Given the description of an element on the screen output the (x, y) to click on. 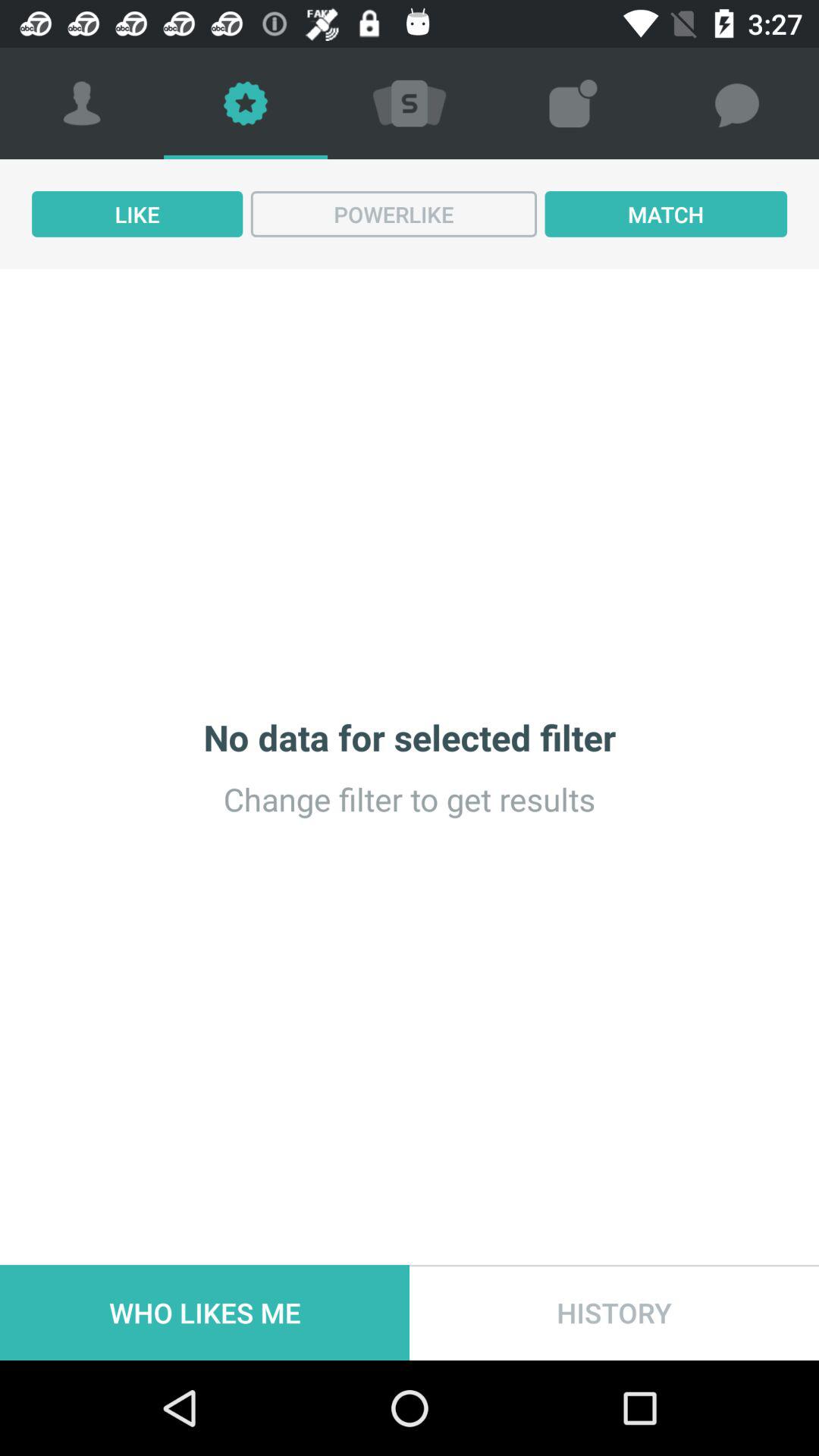
open icon below the change filter to item (614, 1312)
